Given the description of an element on the screen output the (x, y) to click on. 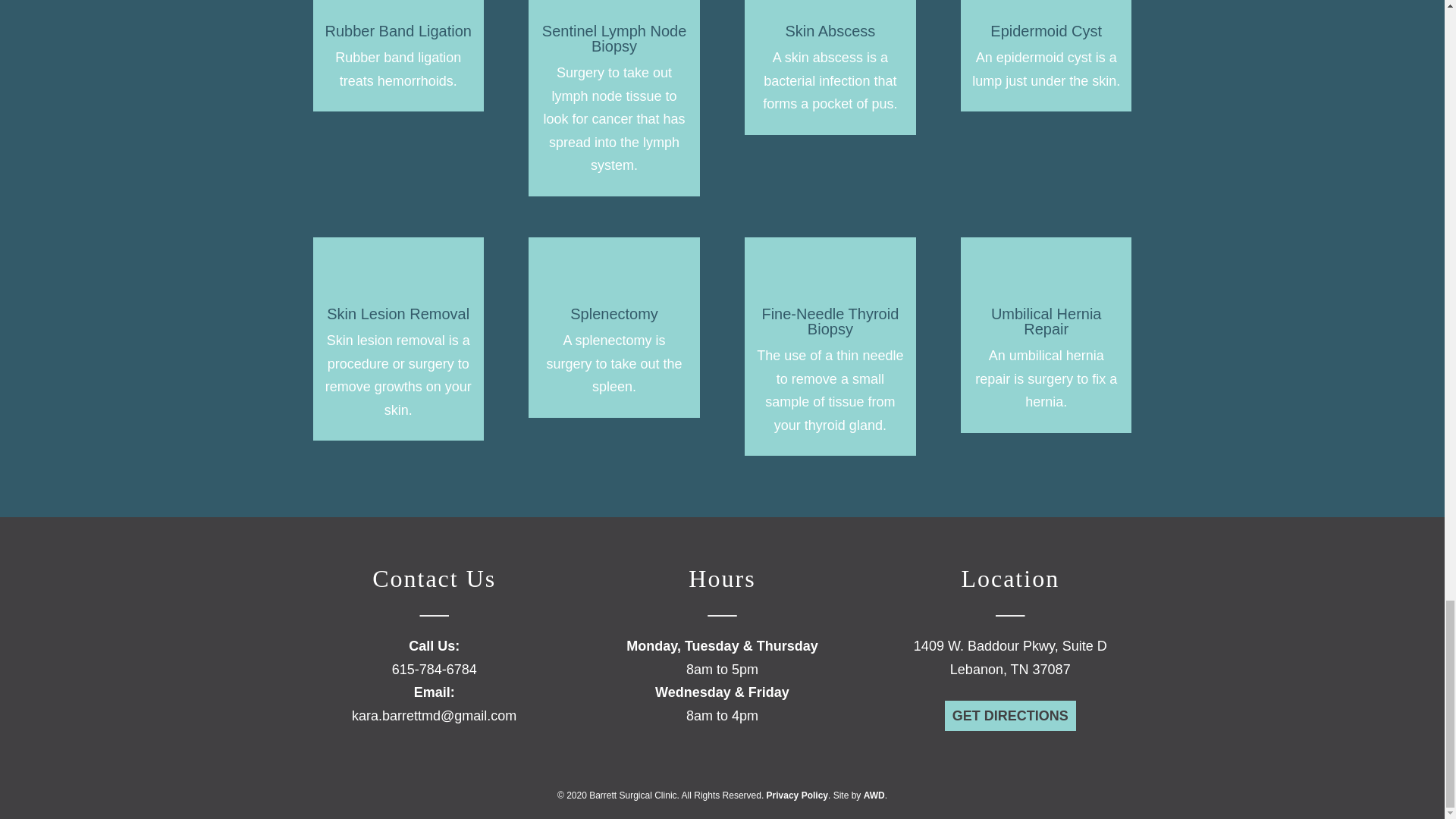
Privacy Policy (797, 795)
615-784-6784 (434, 669)
AWD (874, 795)
GET DIRECTIONS (1009, 716)
